Given the description of an element on the screen output the (x, y) to click on. 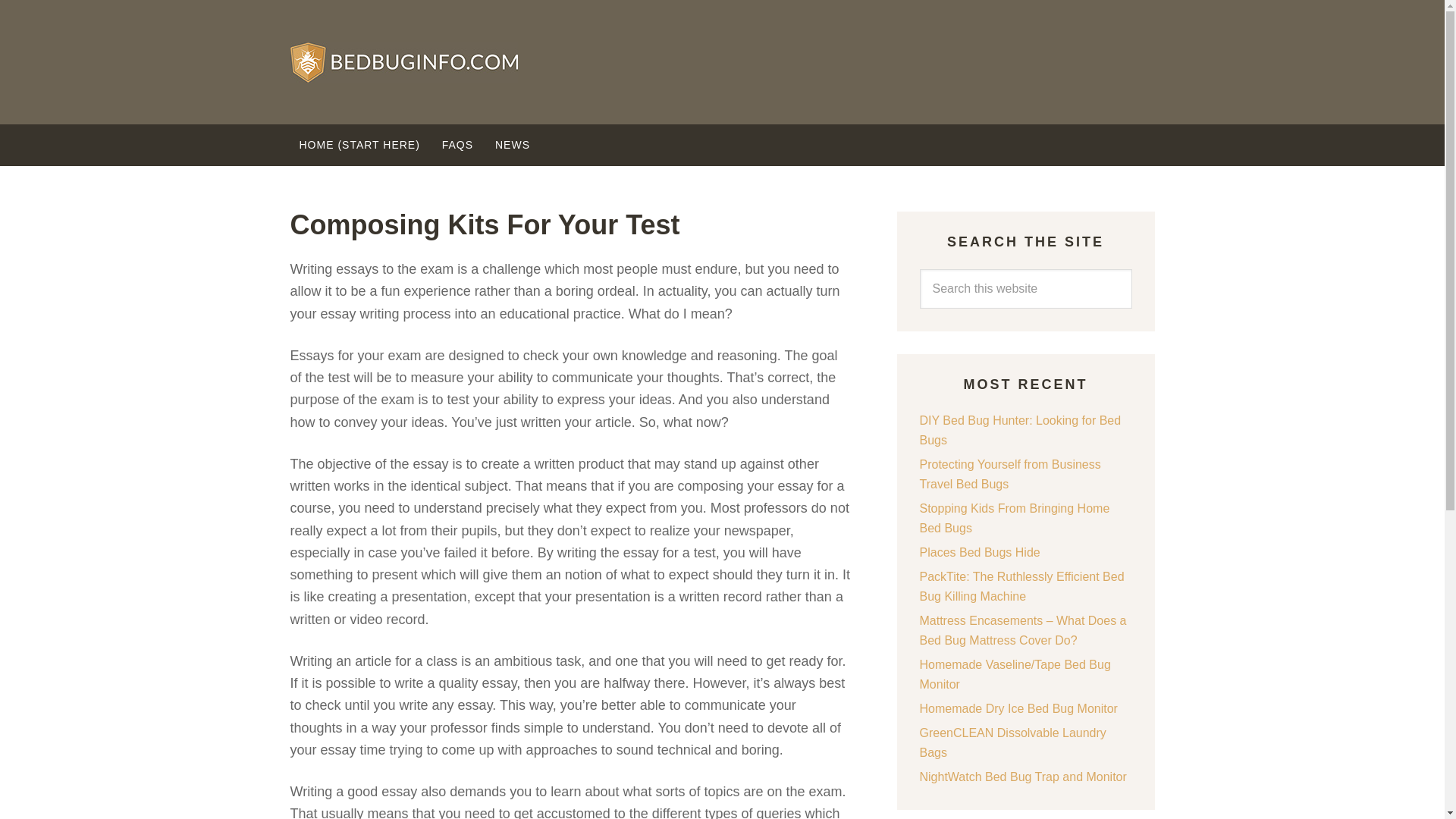
Protecting Yourself from Business Travel Bed Bugs (1009, 473)
DIY Bed Bug Hunter: Looking for Bed Bugs (1019, 430)
FAQS (456, 145)
Places Bed Bugs Hide (978, 552)
Stopping Kids From Bringing Home Bed Bugs (1013, 518)
BEDBUGINFO.COM (721, 62)
GreenCLEAN Dissolvable Laundry Bags (1011, 742)
NEWS (512, 145)
PackTite: The Ruthlessly Efficient Bed Bug Killing Machine (1021, 586)
Homemade Dry Ice Bed Bug Monitor (1017, 707)
NightWatch Bed Bug Trap and Monitor (1021, 776)
